Given the description of an element on the screen output the (x, y) to click on. 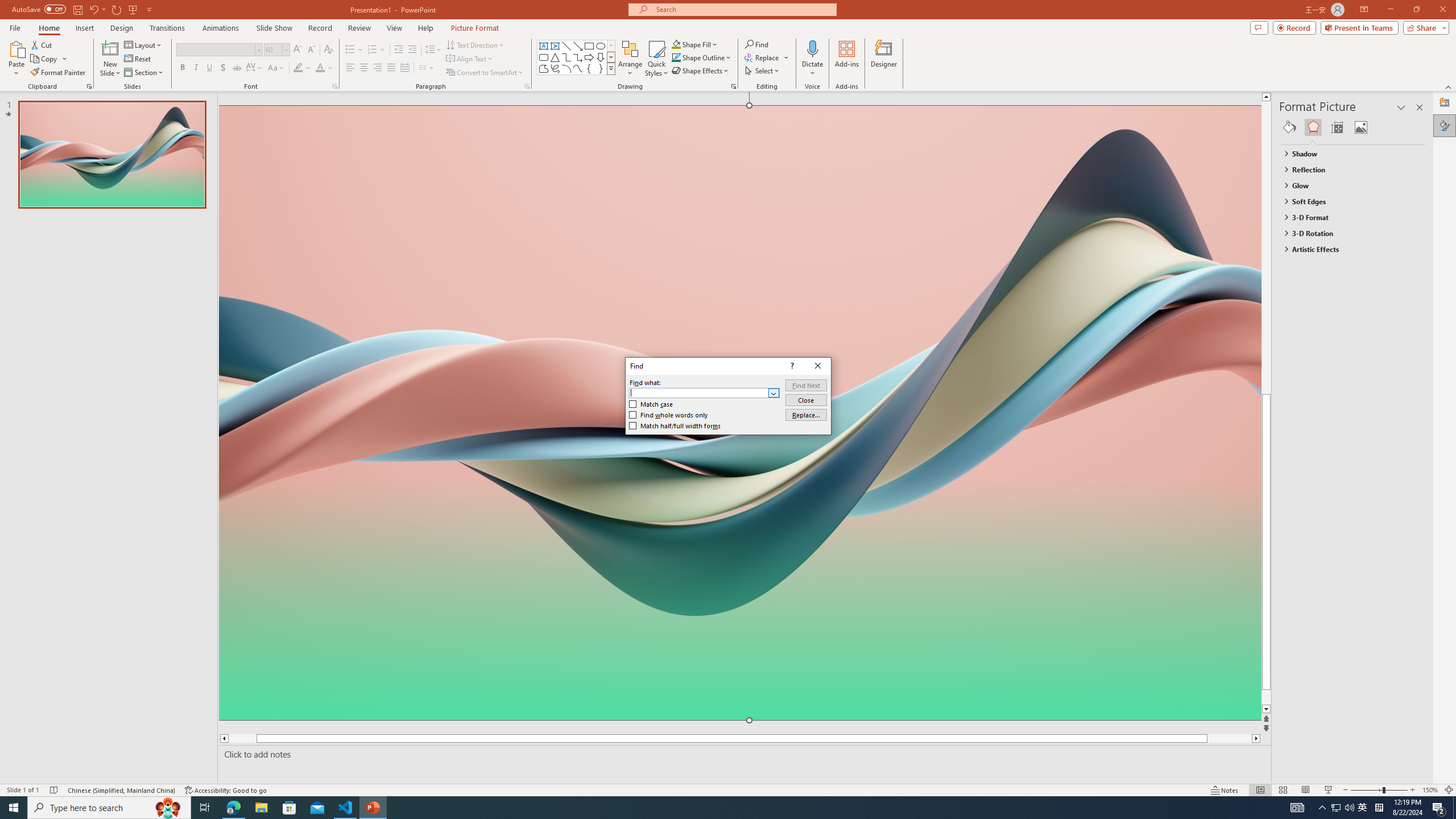
Running applications (707, 807)
Reflection (1347, 169)
Size & Properties (1336, 126)
